Given the description of an element on the screen output the (x, y) to click on. 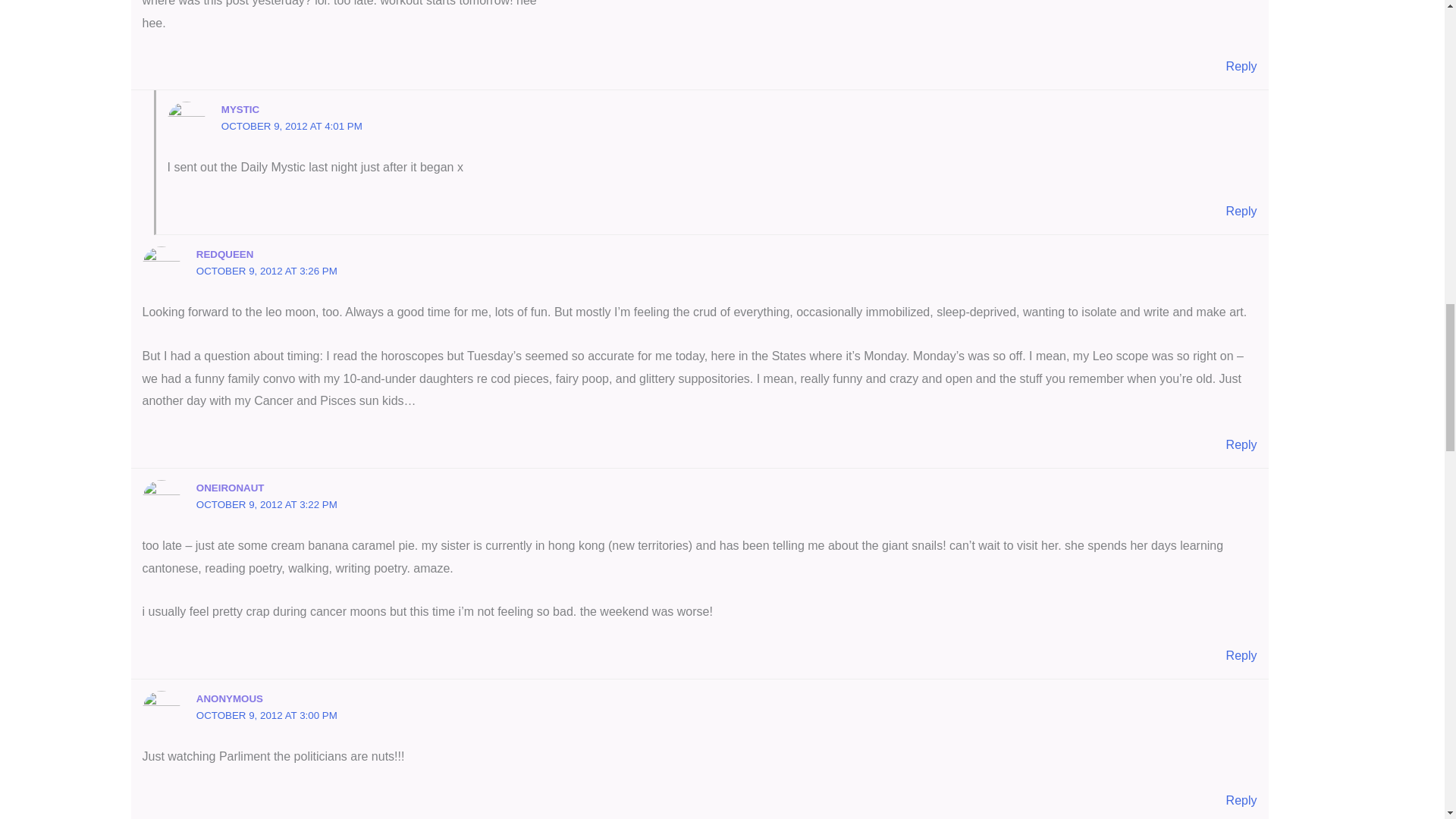
OCTOBER 9, 2012 AT 4:01 PM (291, 125)
Reply (1241, 65)
Reply (1241, 210)
